Given the description of an element on the screen output the (x, y) to click on. 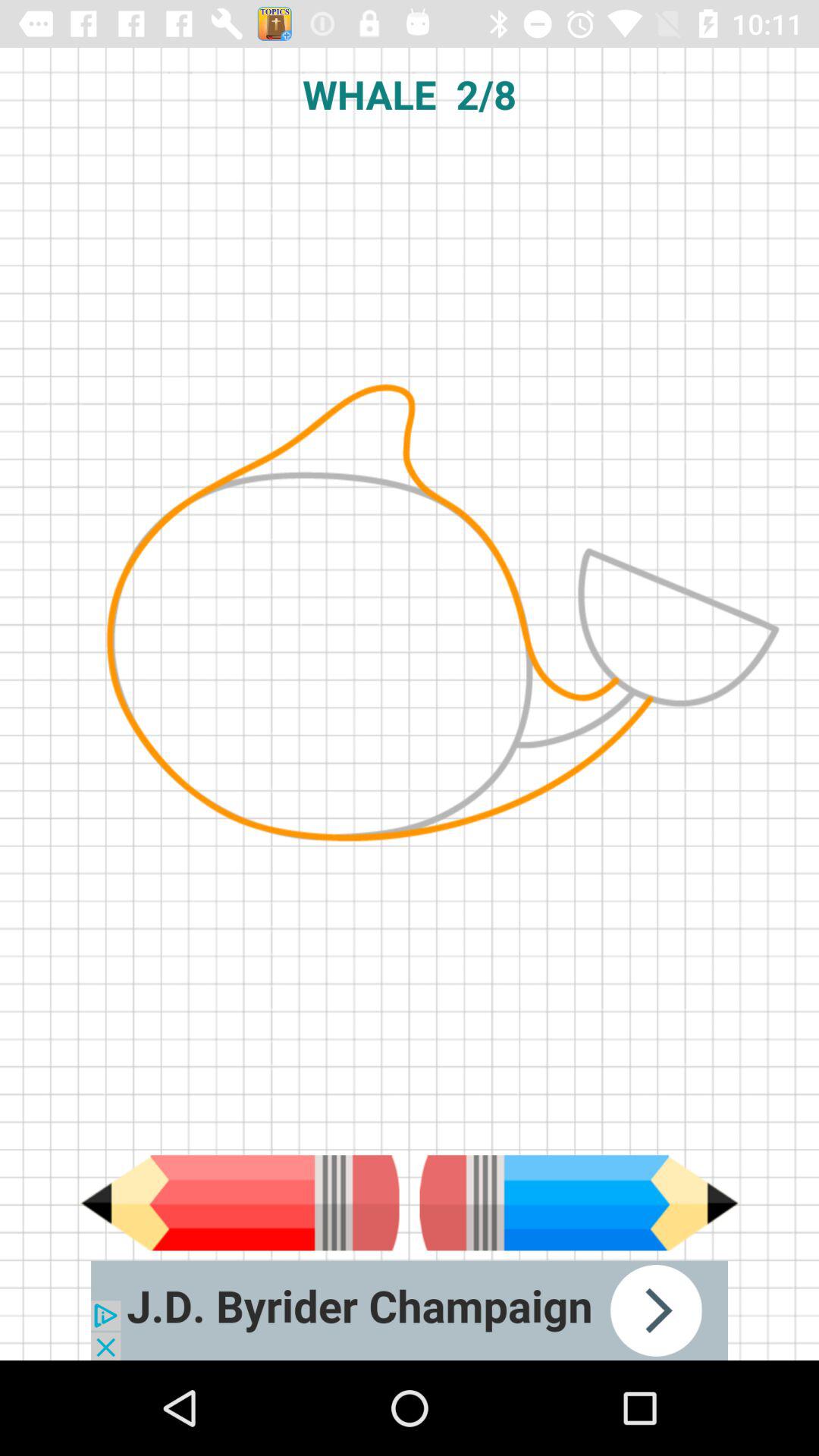
view advertisement (409, 1310)
